Given the description of an element on the screen output the (x, y) to click on. 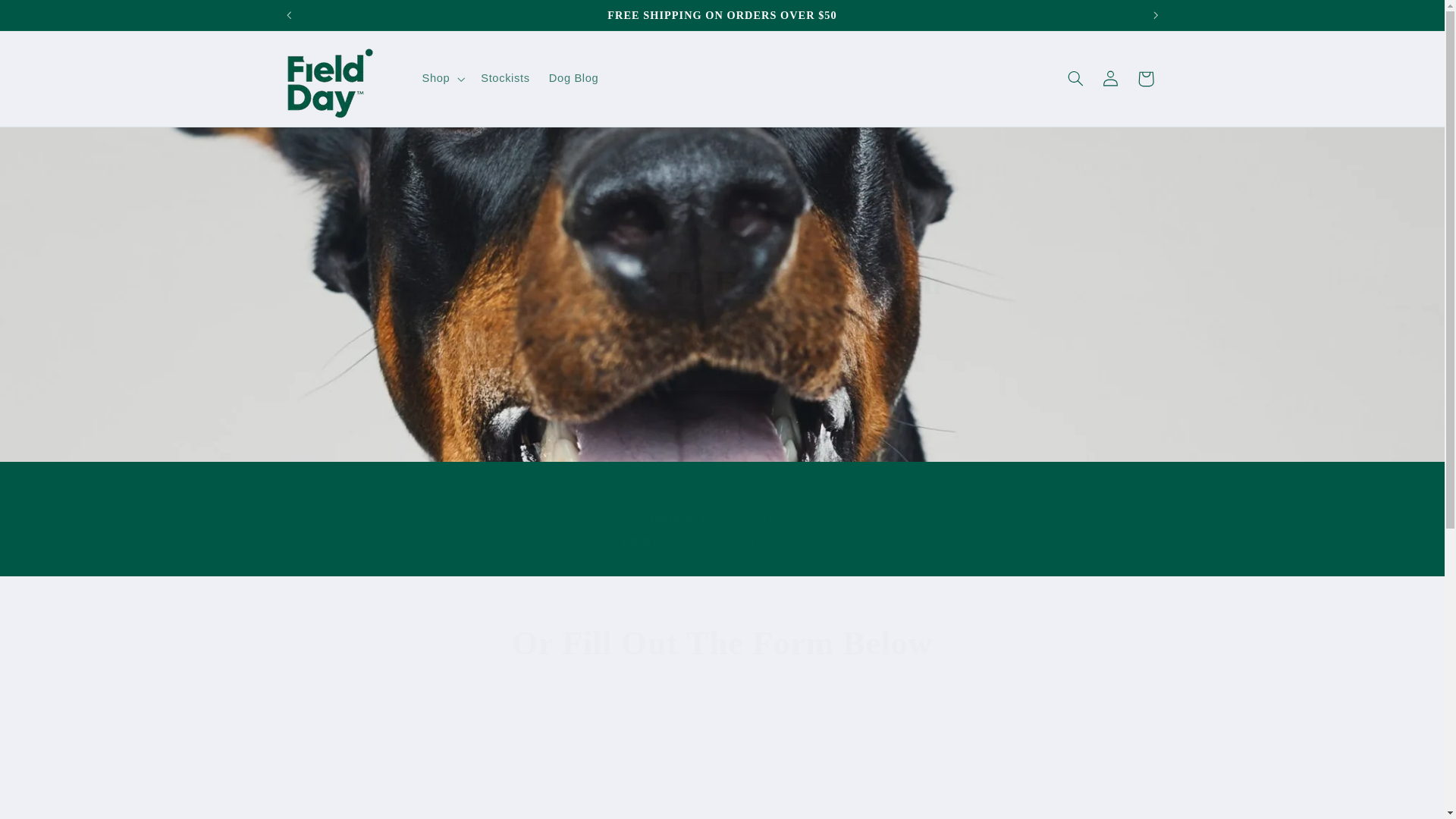
Email Us (630, 339)
Stockists (505, 78)
Dog Blog (573, 78)
Cart (1145, 78)
Or Fill Out The Form Below (722, 643)
Call Us (813, 339)
Log in (48, 18)
